Given the description of an element on the screen output the (x, y) to click on. 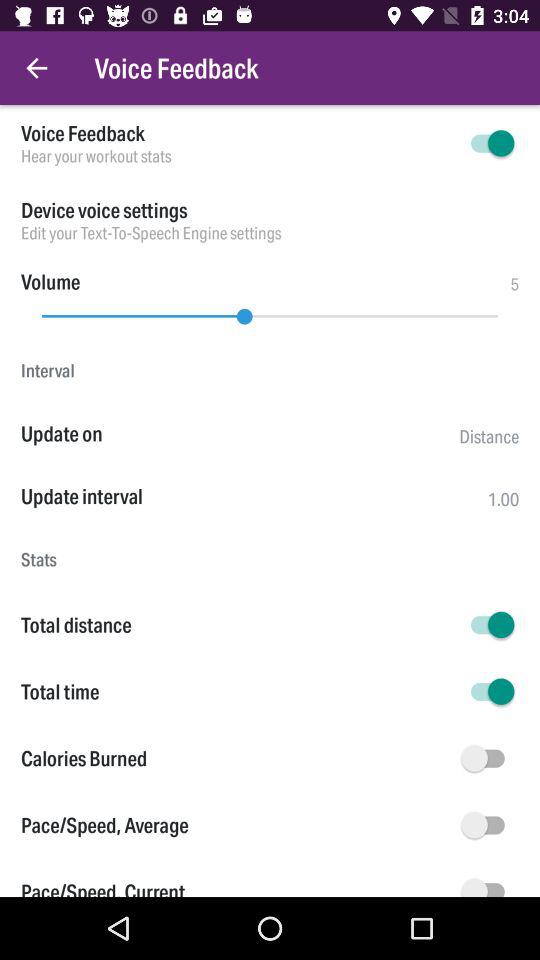
jump until the edit your text item (270, 232)
